Given the description of an element on the screen output the (x, y) to click on. 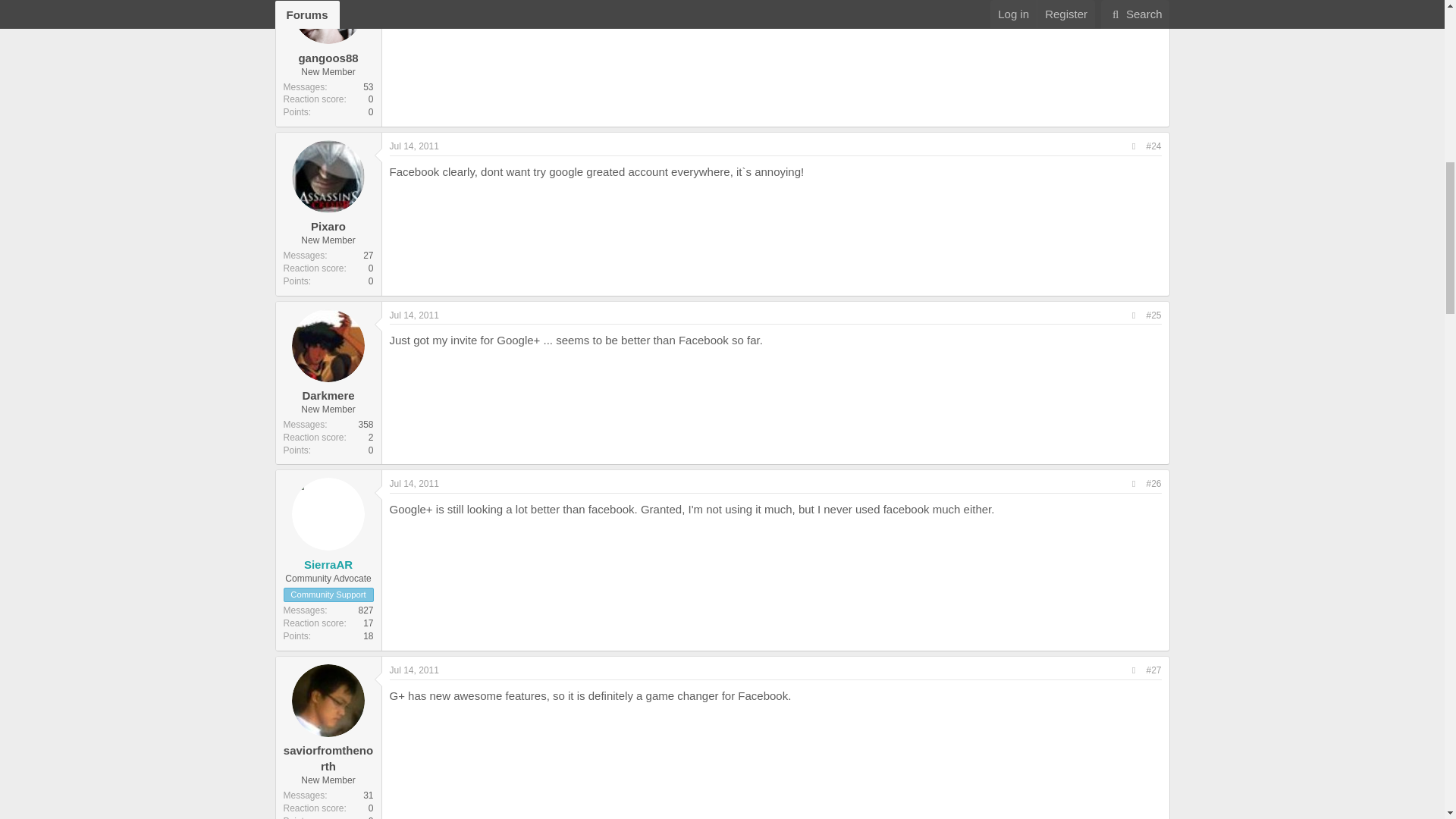
Jul 14, 2011 at 9:12 PM (414, 670)
Jul 14, 2011 at 6:46 PM (414, 483)
Jul 14, 2011 at 6:43 PM (414, 315)
Stick Out Tongue    :p (721, 5)
Jul 14, 2011 at 2:28 PM (414, 145)
